Given the description of an element on the screen output the (x, y) to click on. 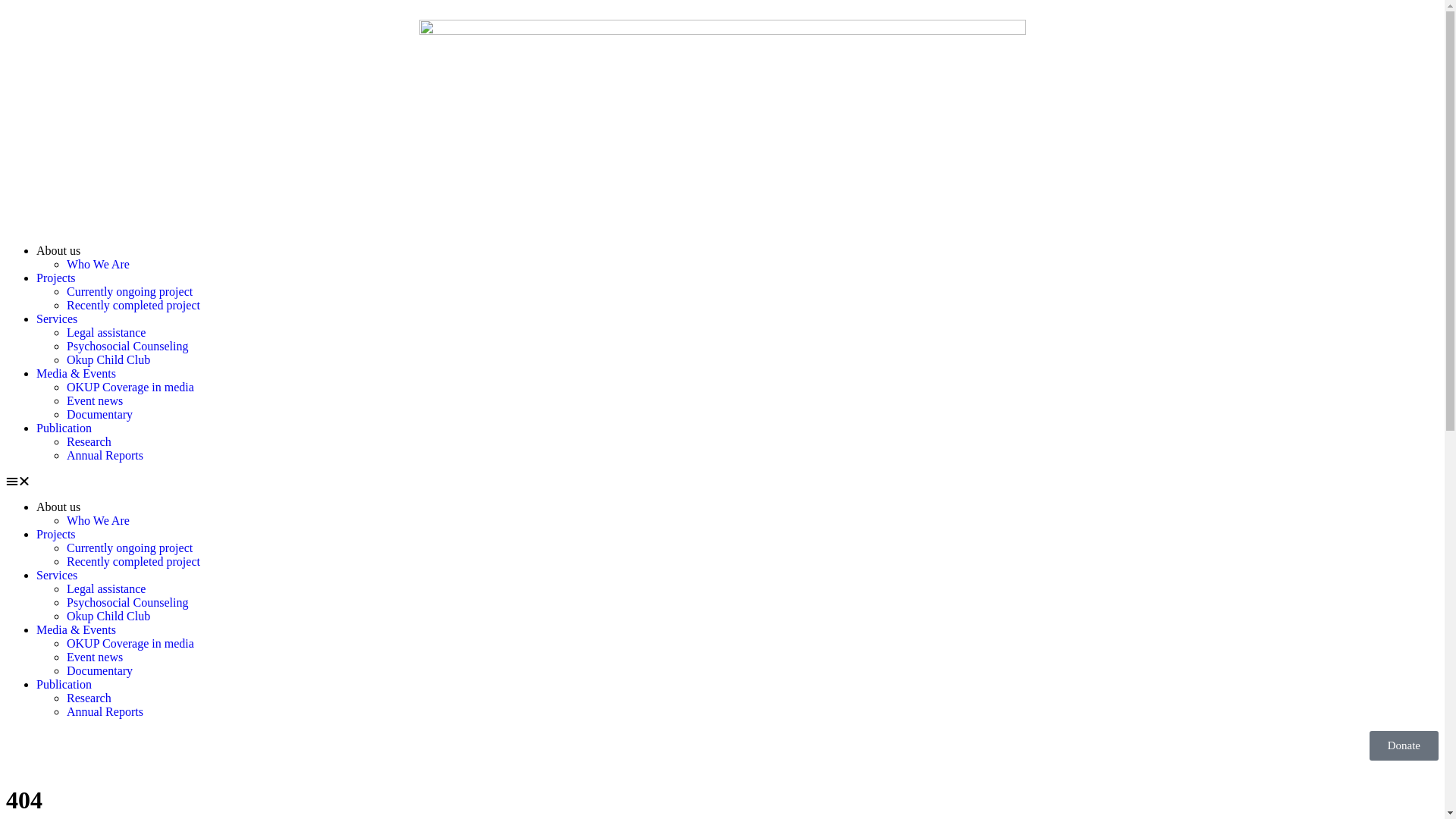
Recently completed project Element type: text (133, 561)
Psychosocial Counseling Element type: text (127, 602)
Research Element type: text (88, 441)
Projects Element type: text (55, 277)
Media & Events Element type: text (76, 629)
Event news Element type: text (94, 400)
Media & Events Element type: text (76, 373)
OKUP Coverage in media Element type: text (130, 386)
Legal assistance Element type: text (105, 588)
Who We Are Element type: text (97, 520)
Documentary Element type: text (99, 670)
Publication Element type: text (63, 683)
Who We Are Element type: text (97, 263)
Publication Element type: text (63, 427)
Recently completed project Element type: text (133, 304)
Research Element type: text (88, 697)
Annual Reports Element type: text (104, 711)
Psychosocial Counseling Element type: text (127, 345)
Annual Reports Element type: text (104, 454)
Currently ongoing project Element type: text (129, 547)
Donate Element type: text (1403, 745)
OKUP Coverage in media Element type: text (130, 643)
Okup Child Club Element type: text (108, 615)
Services Element type: text (56, 318)
Services Element type: text (56, 574)
About us Element type: text (58, 250)
Projects Element type: text (55, 533)
Currently ongoing project Element type: text (129, 291)
Documentary Element type: text (99, 413)
About us Element type: text (58, 506)
Okup Child Club Element type: text (108, 359)
Legal assistance Element type: text (105, 332)
Event news Element type: text (94, 656)
